Given the description of an element on the screen output the (x, y) to click on. 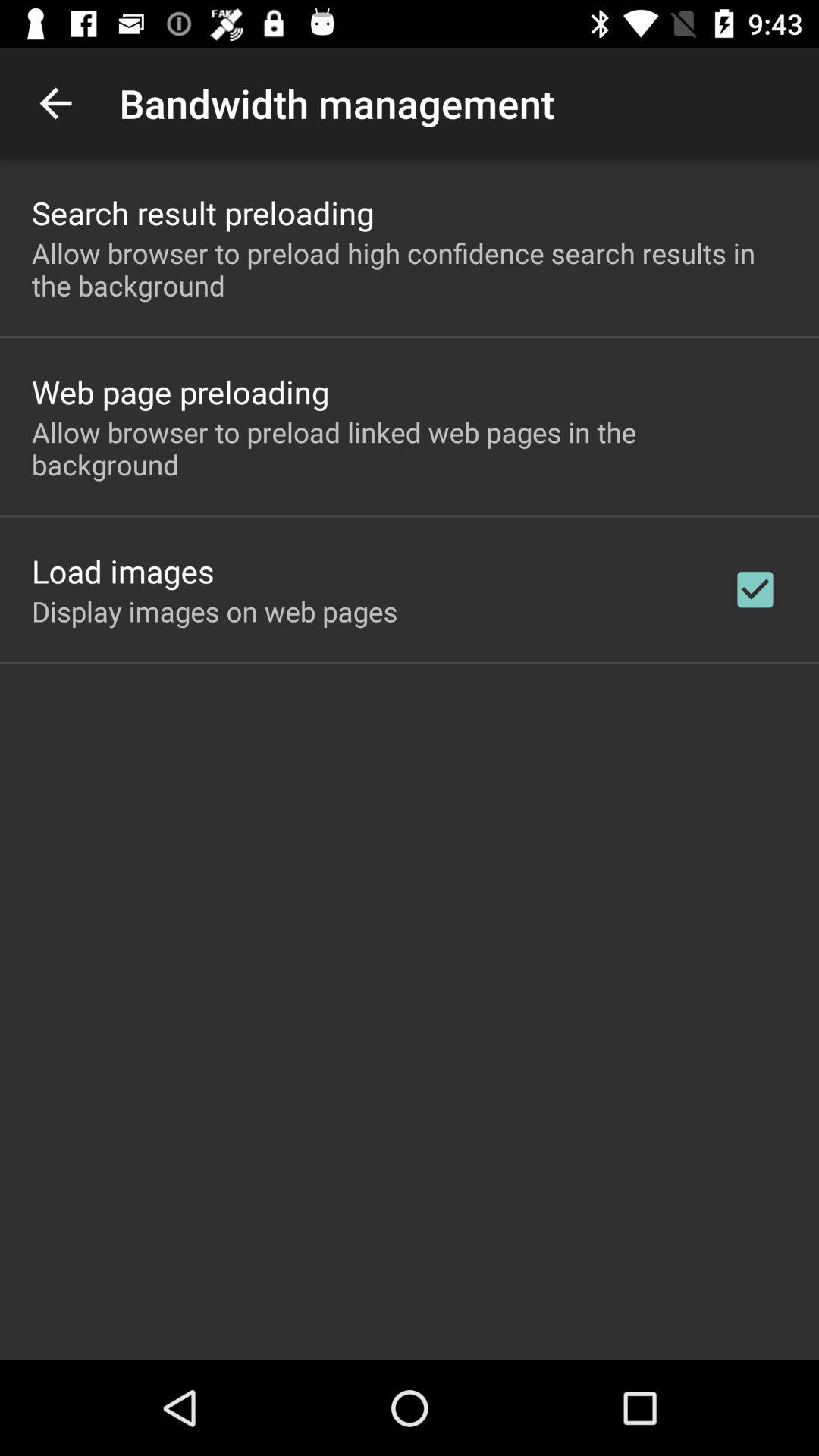
tap icon next to bandwidth management app (55, 103)
